Given the description of an element on the screen output the (x, y) to click on. 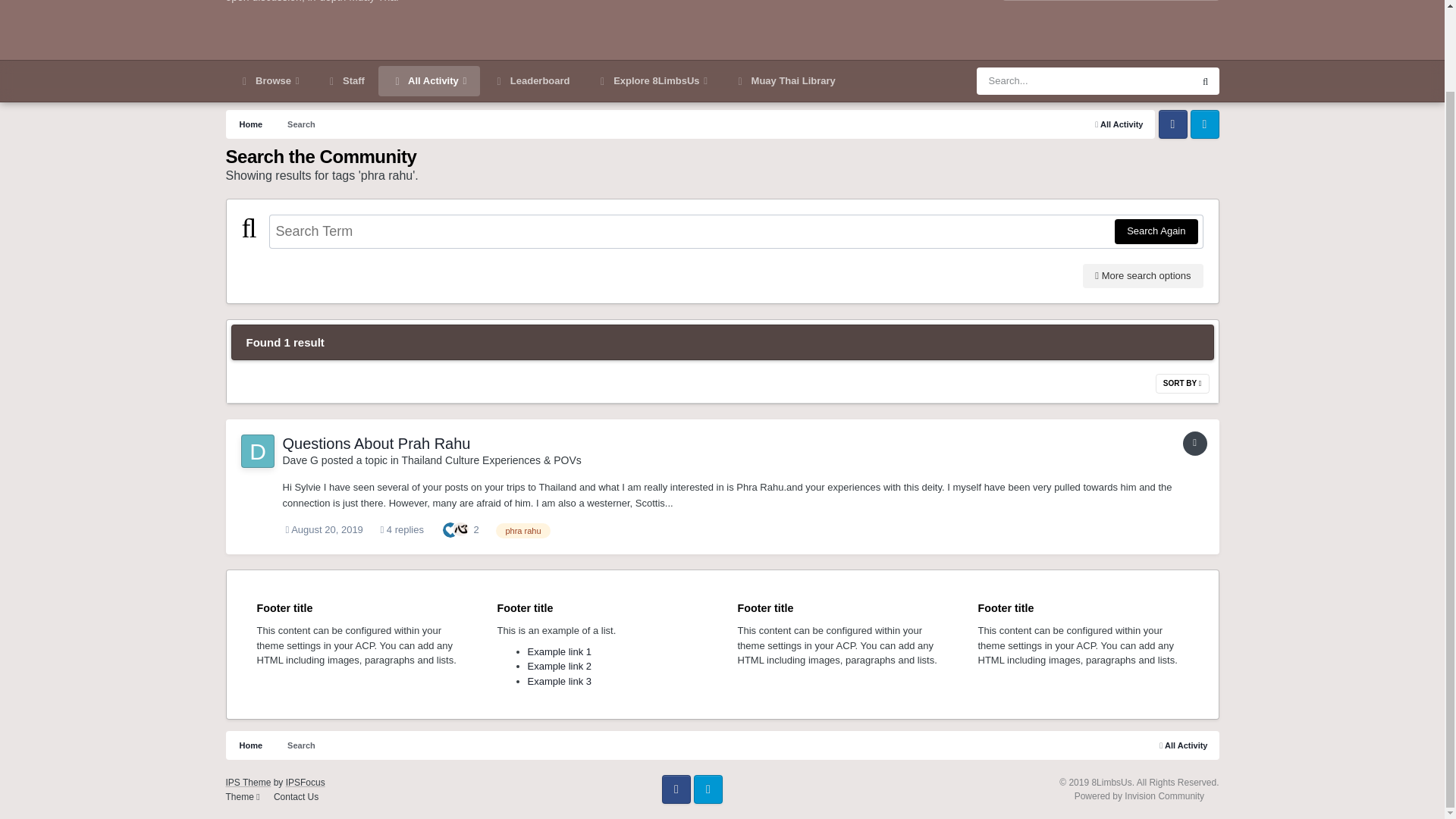
Find other content tagged with 'phra rahu' (523, 530)
Leaderboard (531, 81)
Heart (460, 528)
Go to Dave G's profile (299, 460)
Home (250, 745)
Go to Dave G's profile (258, 450)
Like (450, 529)
Home (250, 123)
Explore 8LimbsUs (651, 81)
Browse (269, 81)
Invision Community (1139, 796)
Staff (345, 81)
All Activity (429, 81)
Topic (1194, 443)
